Given the description of an element on the screen output the (x, y) to click on. 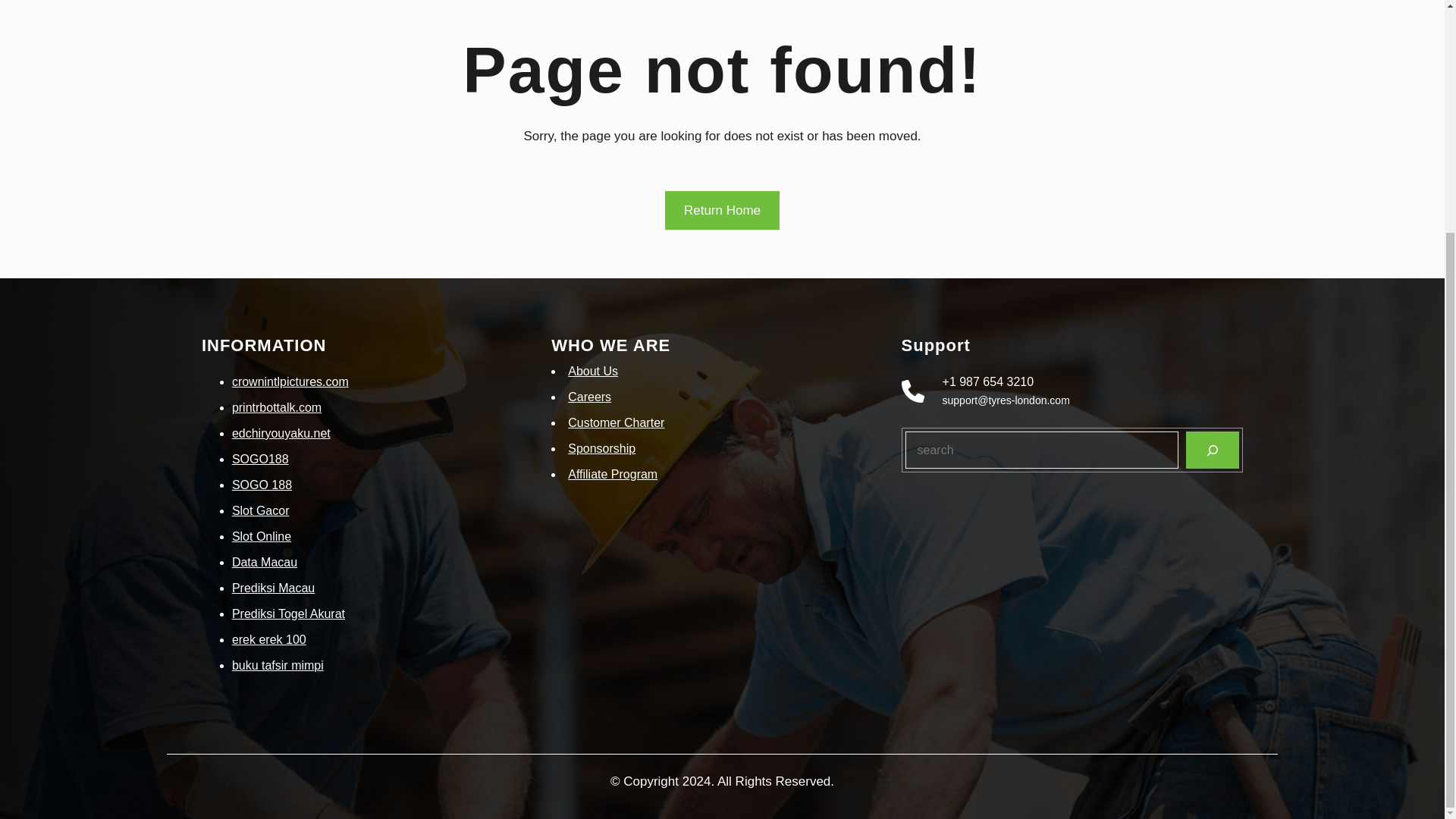
Sponsorship (600, 448)
Slot Gacor (260, 510)
Customer Charter (615, 422)
Careers (589, 396)
Prediksi Macau (272, 587)
buku tafsir mimpi (277, 665)
Prediksi Togel Akurat (288, 613)
Affiliate Program (612, 473)
SOGO 188 (261, 484)
printrbottalk.com (276, 407)
crownintlpictures.com (290, 381)
Data Macau (264, 562)
About Us (592, 370)
Slot Online (261, 535)
Return Home (721, 210)
